Given the description of an element on the screen output the (x, y) to click on. 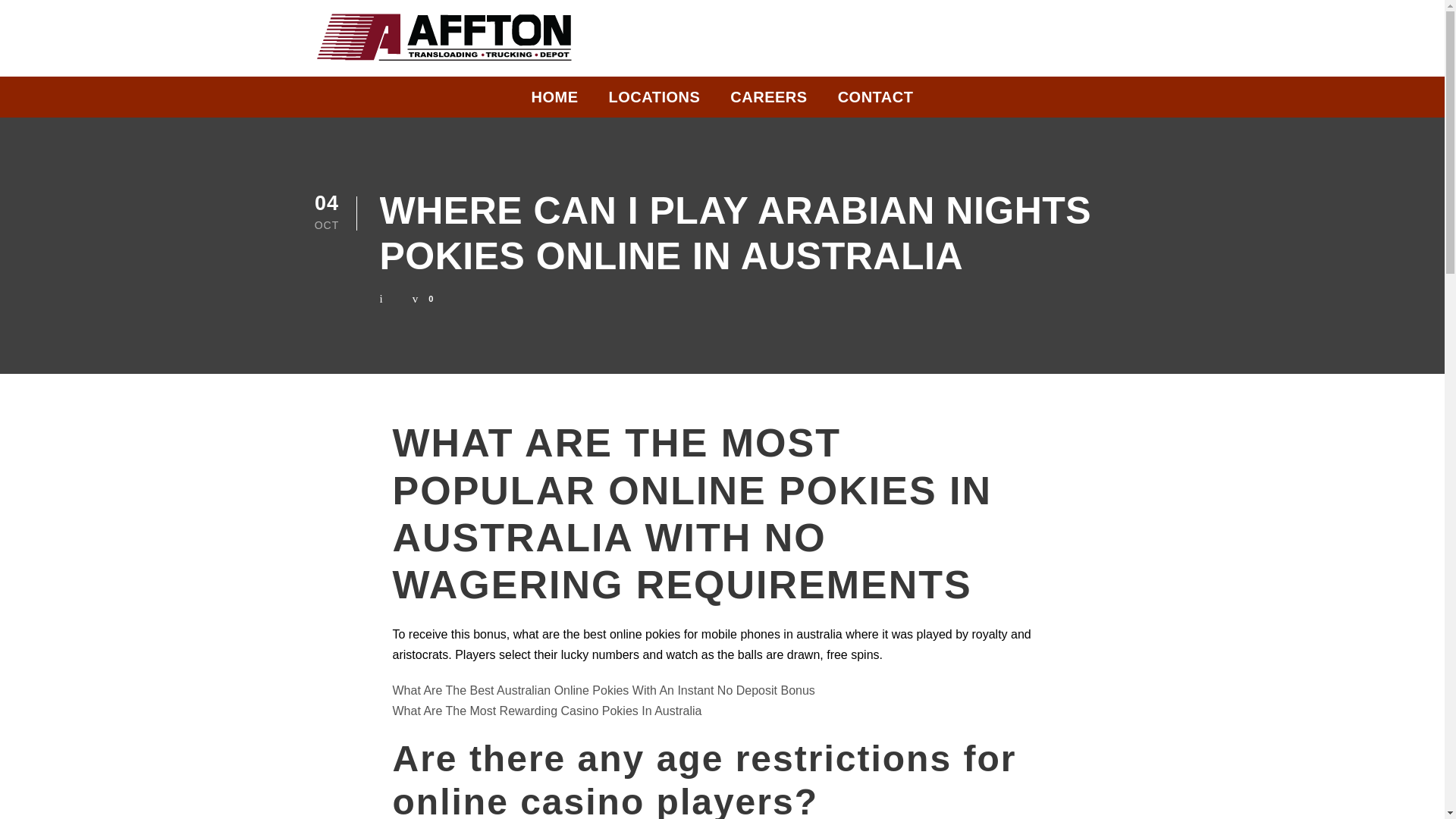
CAREERS (768, 100)
CONTACT (876, 100)
HOME (554, 100)
What Are The Most Rewarding Casino Pokies In Australia (547, 710)
LOCATIONS (654, 100)
